Given the description of an element on the screen output the (x, y) to click on. 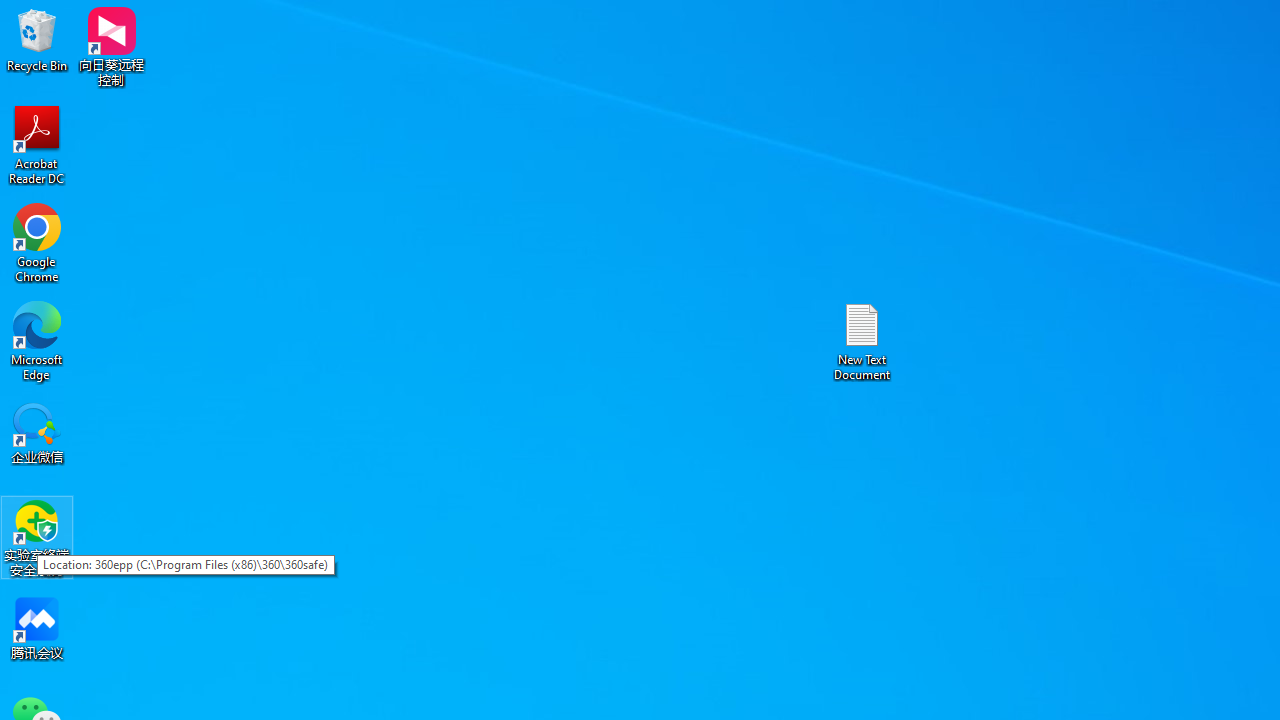
New Text Document (861, 340)
Acrobat Reader DC (37, 144)
Recycle Bin (37, 39)
Microsoft Edge (37, 340)
Google Chrome (37, 242)
